Given the description of an element on the screen output the (x, y) to click on. 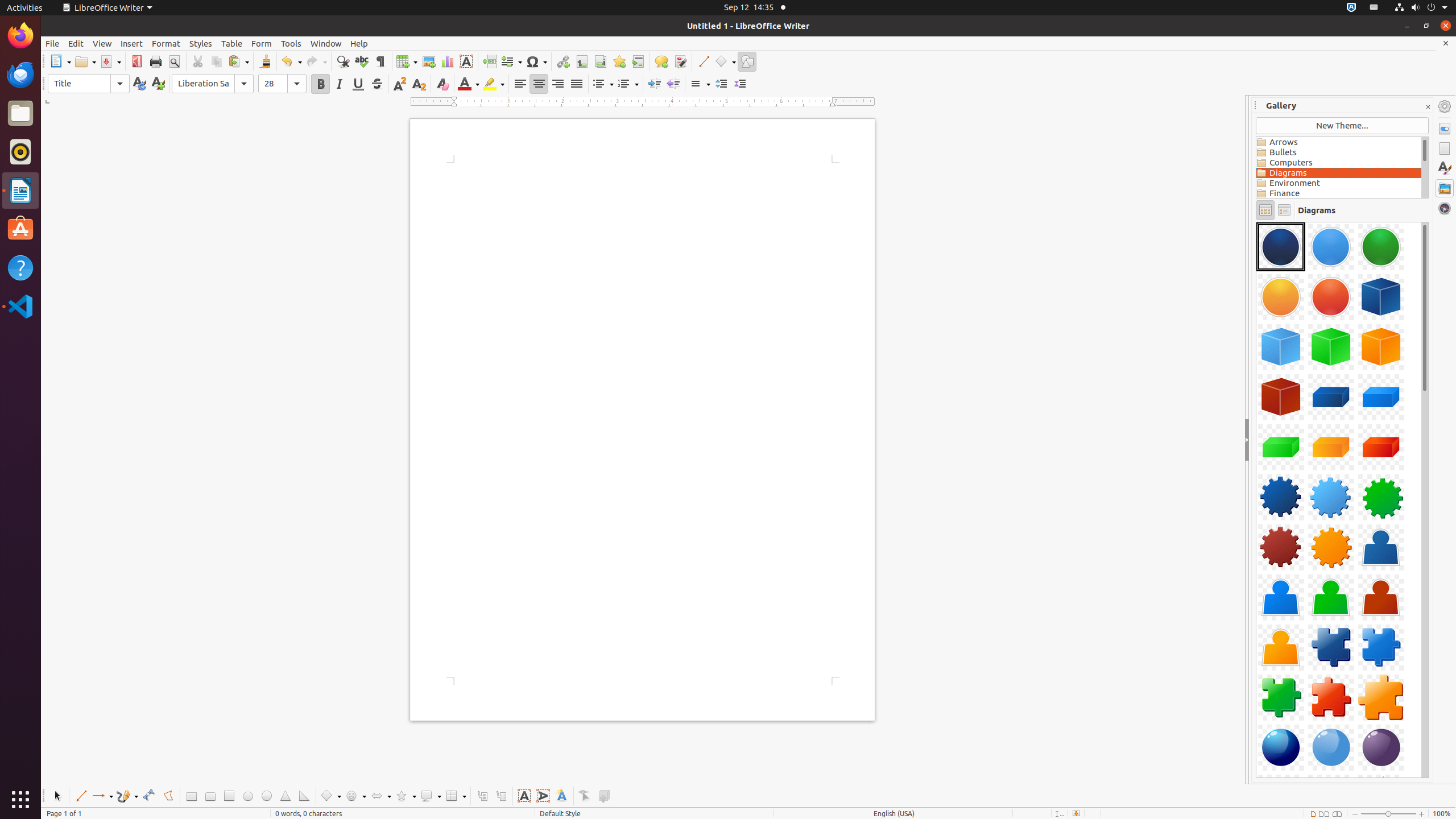
Table Element type: menu (231, 43)
